Given the description of an element on the screen output the (x, y) to click on. 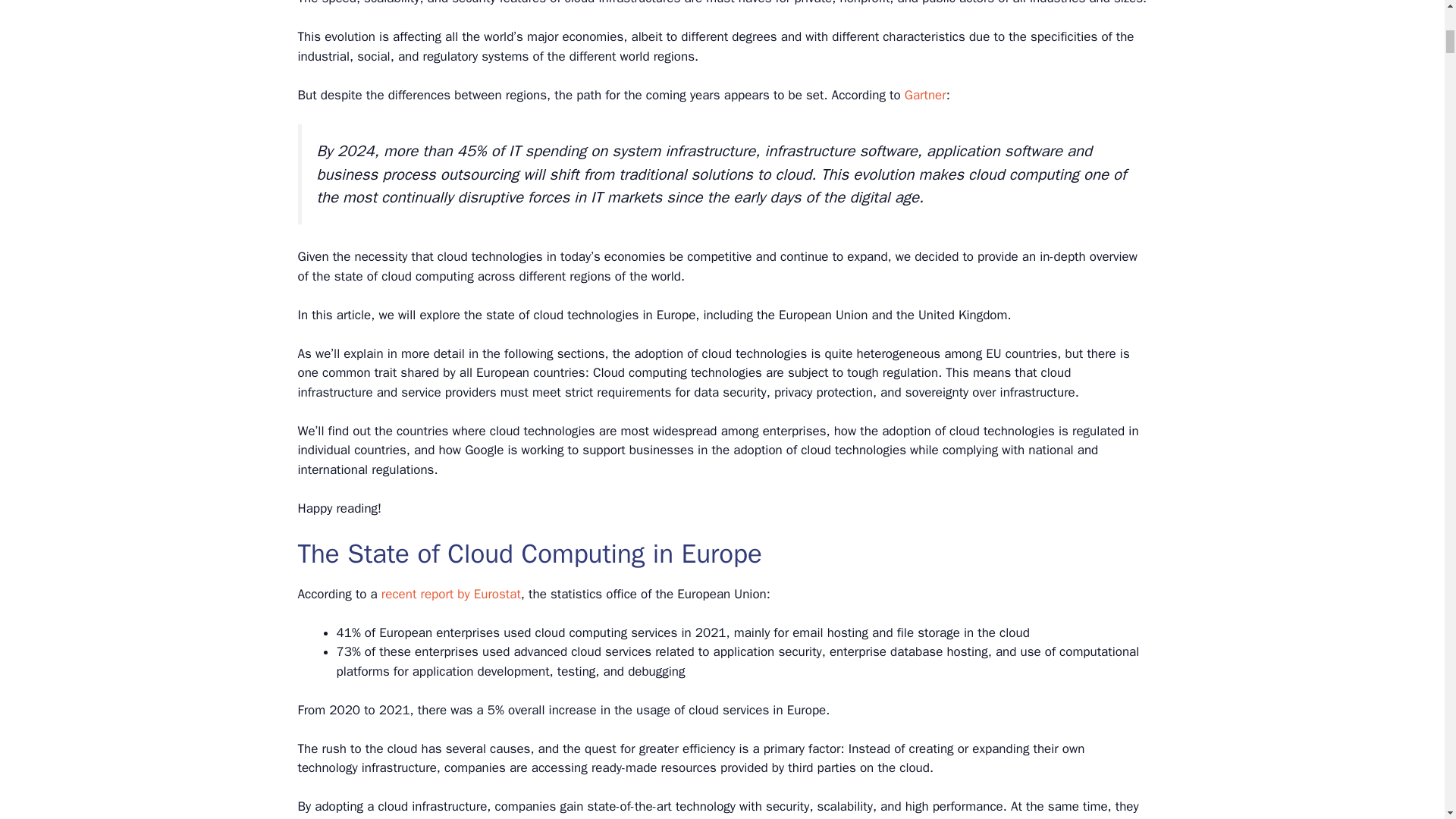
Gartner (925, 94)
recent report by Eurostat (451, 593)
Scroll back to top (1406, 720)
